Given the description of an element on the screen output the (x, y) to click on. 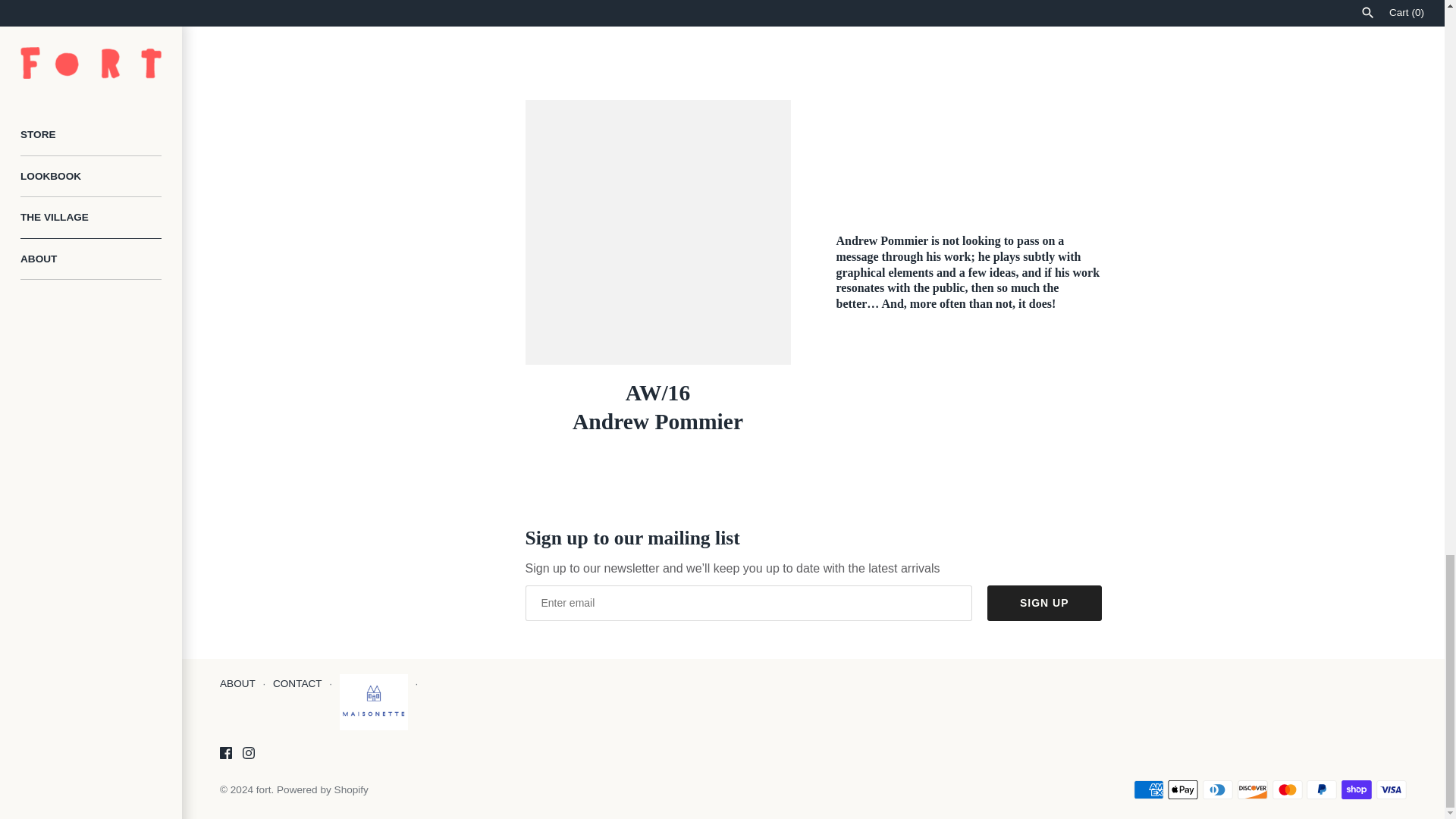
Discover (1252, 789)
Shop Pay (1355, 789)
CONTACT (297, 683)
Instagram (248, 752)
American Express (1148, 789)
Diners Club (1217, 789)
Apple Pay (1182, 789)
Mastercard (1287, 789)
SIGN UP (1044, 602)
PayPal (1321, 789)
ABOUT (237, 683)
Facebook (225, 752)
Visa (1390, 789)
